Given the description of an element on the screen output the (x, y) to click on. 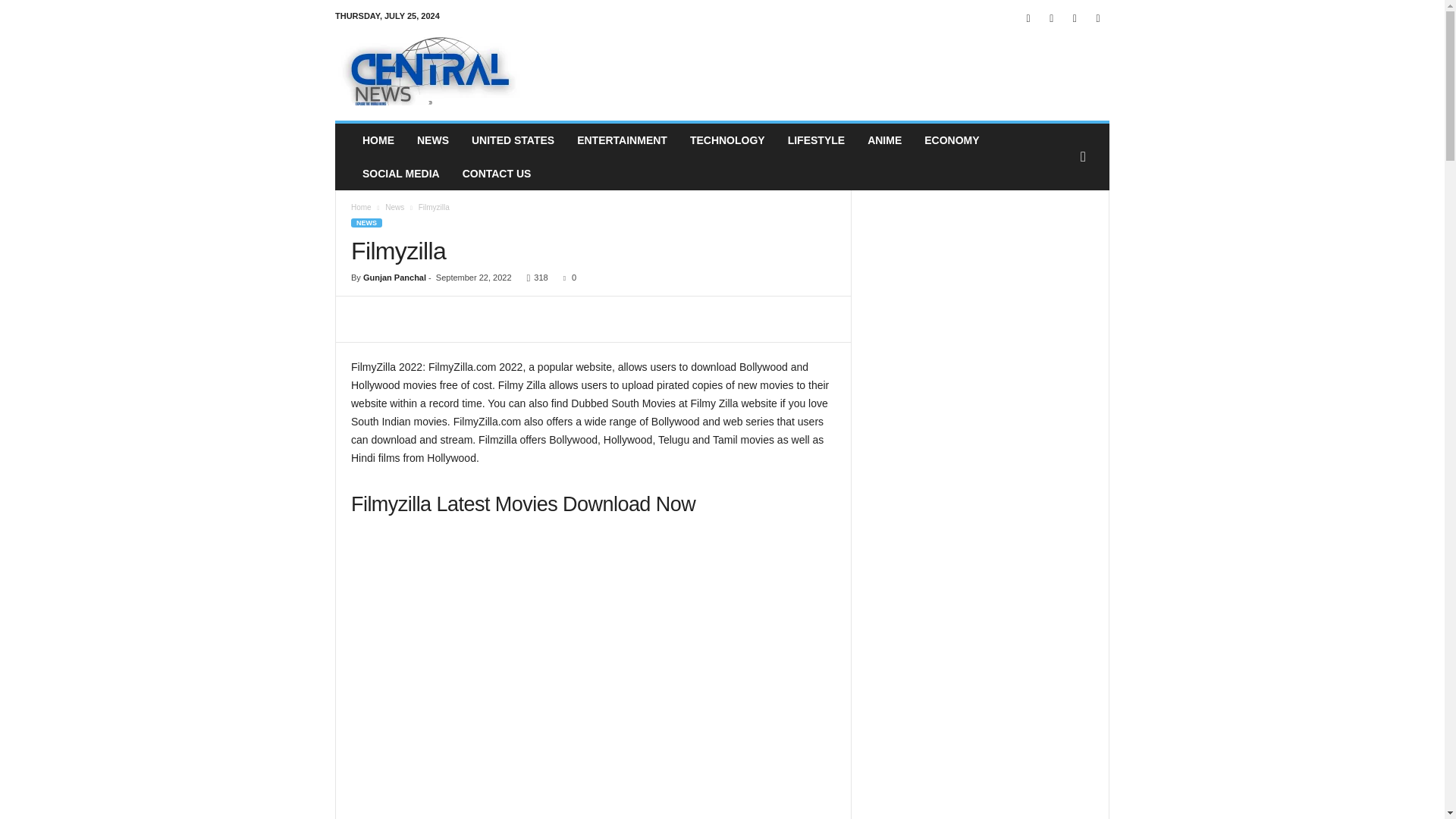
Home (360, 207)
TECHNOLOGY (727, 140)
Instagram (1051, 18)
NEWS (365, 222)
CONTACT US (497, 173)
Twitter (1074, 18)
UNITED STATES (513, 140)
ECONOMY (951, 140)
Gunjan Panchal (394, 276)
Youtube (1097, 18)
View all posts in News (394, 207)
SOCIAL MEDIA (400, 173)
News (394, 207)
